Given the description of an element on the screen output the (x, y) to click on. 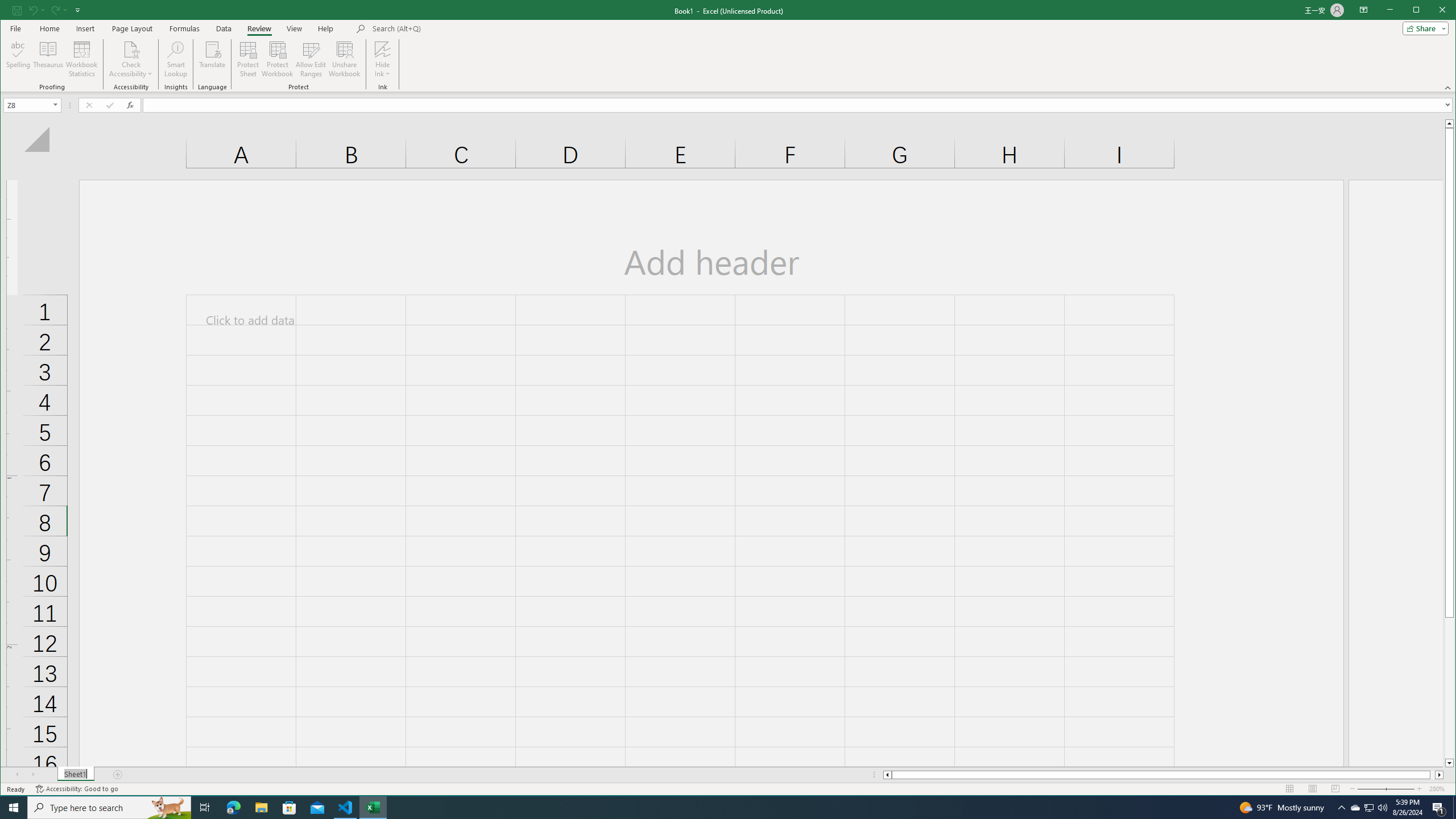
Collapse the Ribbon (1448, 87)
Open (55, 105)
Minimize (1419, 11)
Microsoft search (451, 28)
Check Accessibility (130, 48)
Hide Ink (382, 48)
Customize Quick Access Toolbar (77, 9)
Scroll Right (34, 774)
Smart Lookup (176, 59)
